Given the description of an element on the screen output the (x, y) to click on. 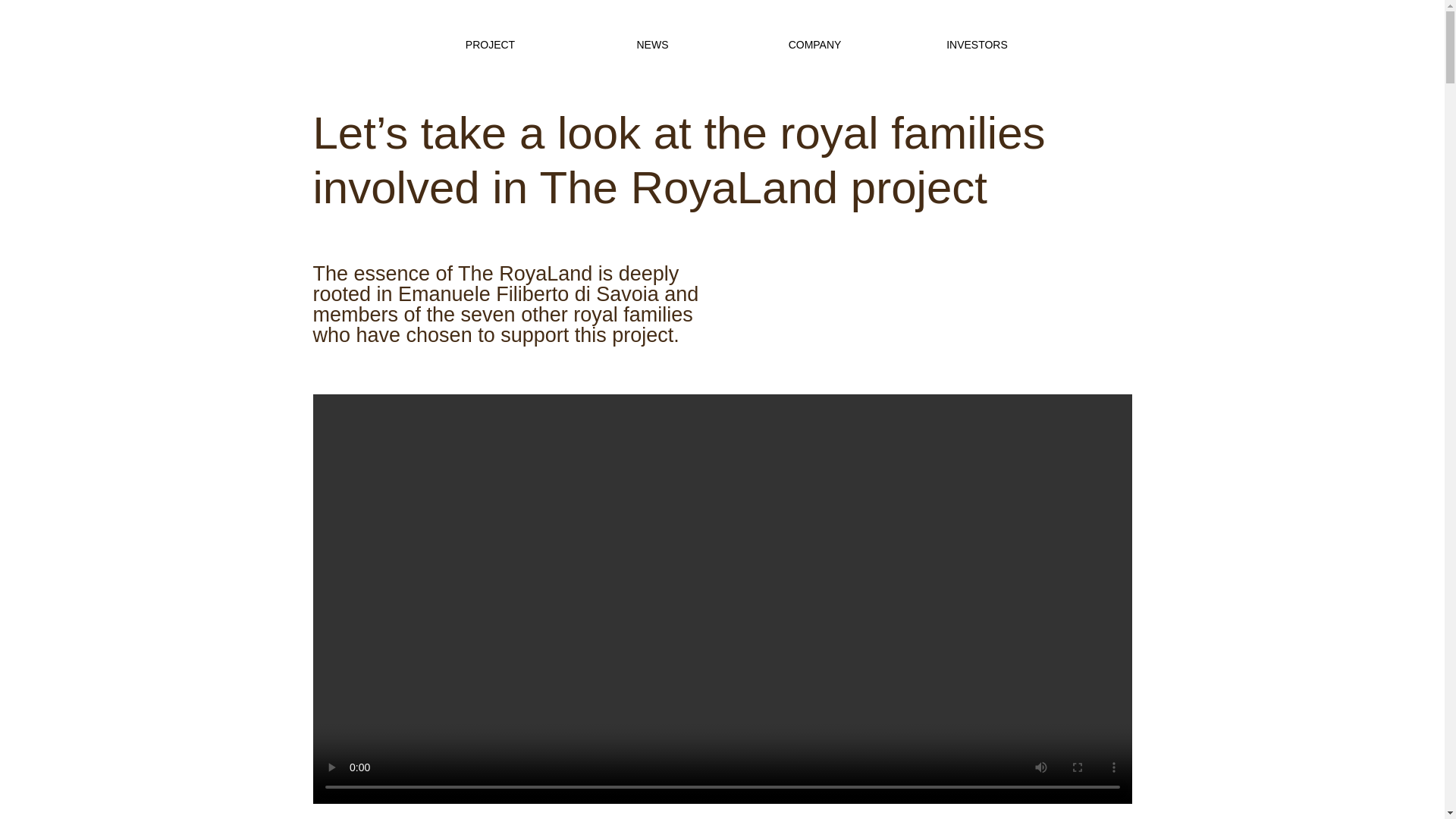
COMPANY (814, 44)
NEWS (652, 44)
PROJECT (490, 44)
INVESTORS (977, 44)
